Given the description of an element on the screen output the (x, y) to click on. 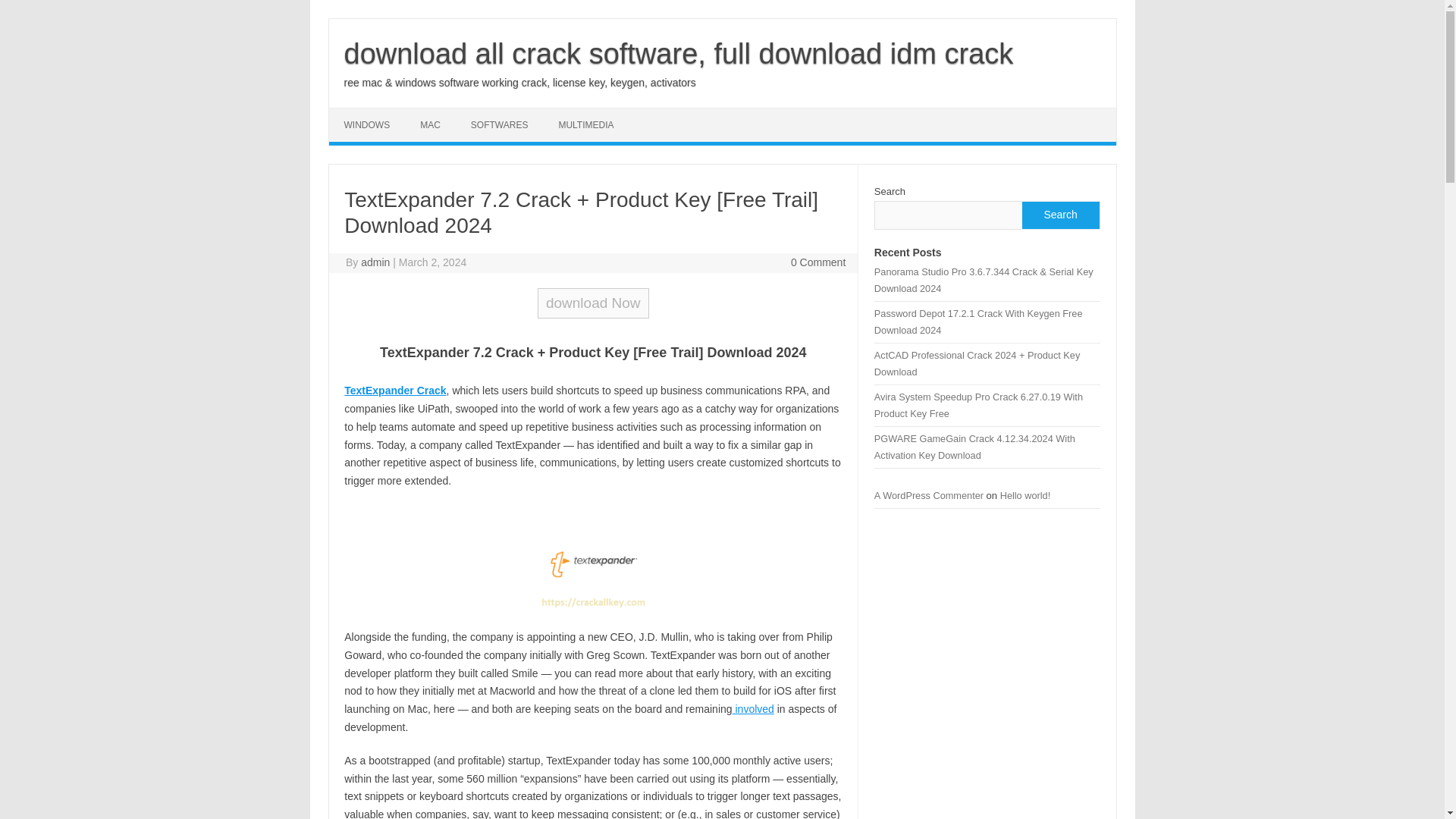
Posts by admin (375, 262)
download all crack software, full download idm crack (678, 53)
SOFTWARES (499, 124)
WINDOWS (367, 124)
download all crack software, full download idm crack (678, 53)
download Now (593, 303)
TextExpander Crack (394, 390)
MULTIMEDIA (585, 124)
